Given the description of an element on the screen output the (x, y) to click on. 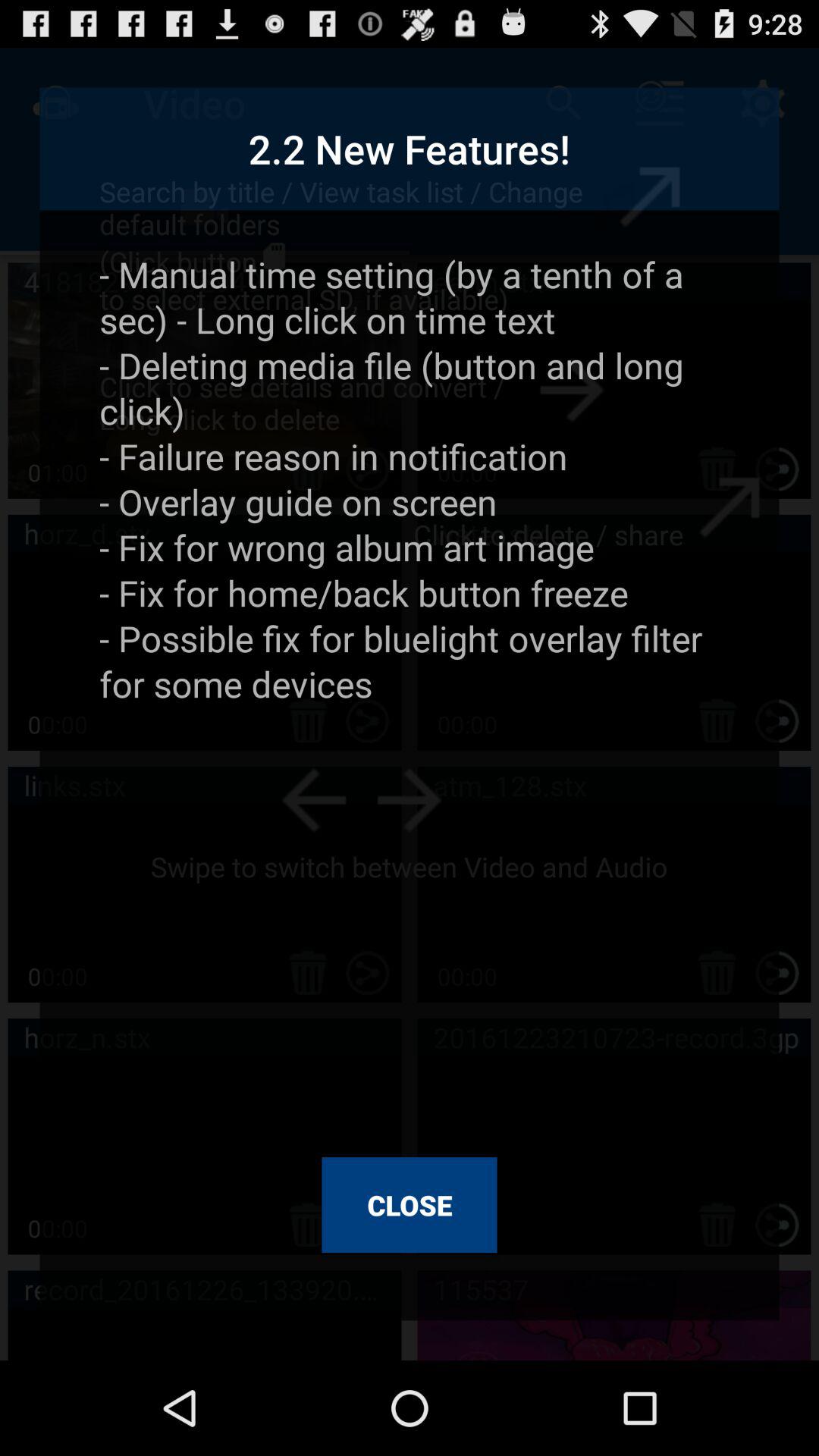
tap item above the close (409, 693)
